Given the description of an element on the screen output the (x, y) to click on. 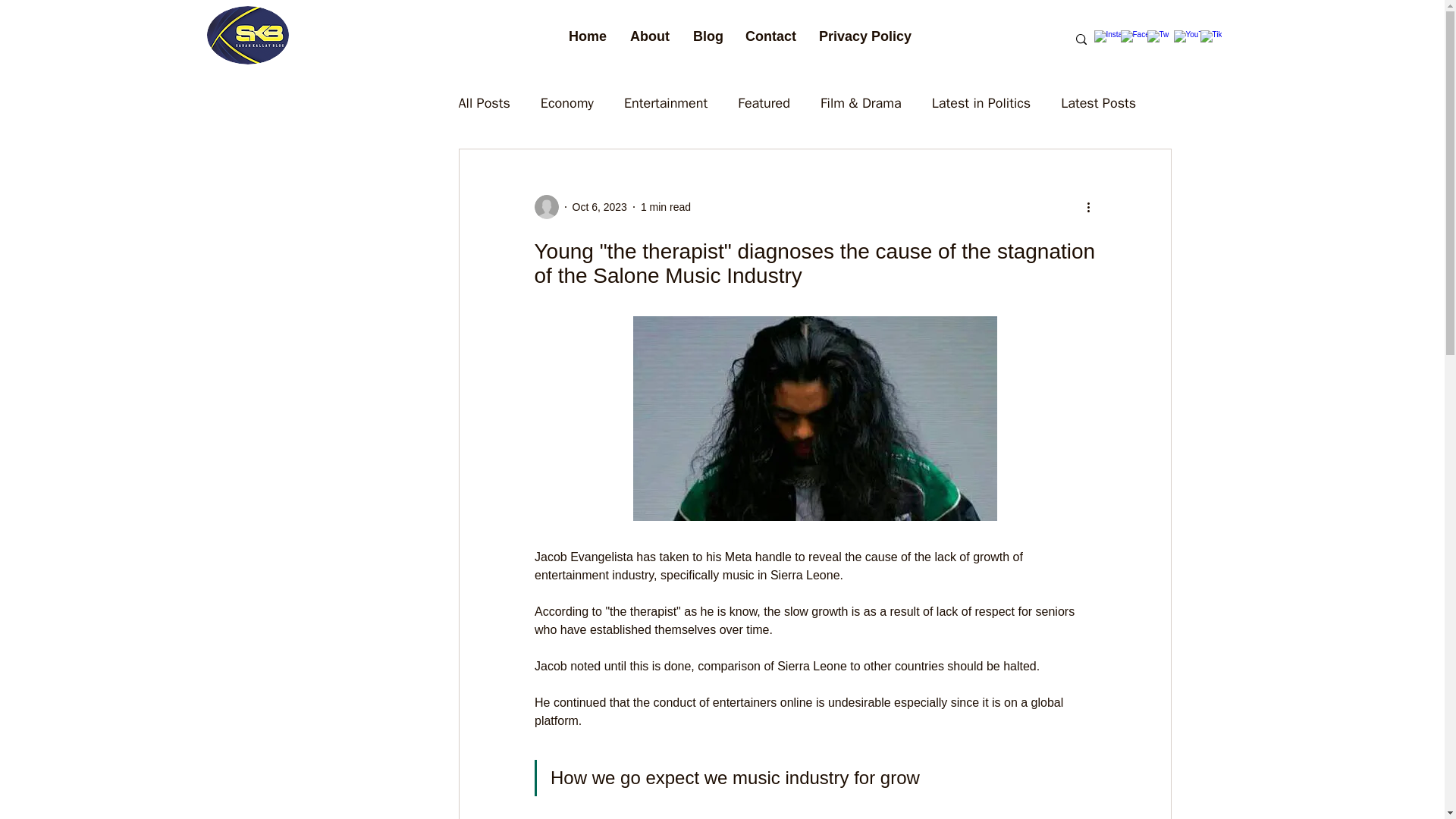
Oct 6, 2023 (599, 205)
All Posts (483, 103)
Privacy Policy (862, 36)
Contact (769, 36)
Entertainment (665, 103)
Home (586, 36)
About (649, 36)
Blog (707, 36)
1 min read (665, 205)
Latest Posts (1098, 103)
Economy (567, 103)
Featured (764, 103)
Latest in Politics (980, 103)
